Given the description of an element on the screen output the (x, y) to click on. 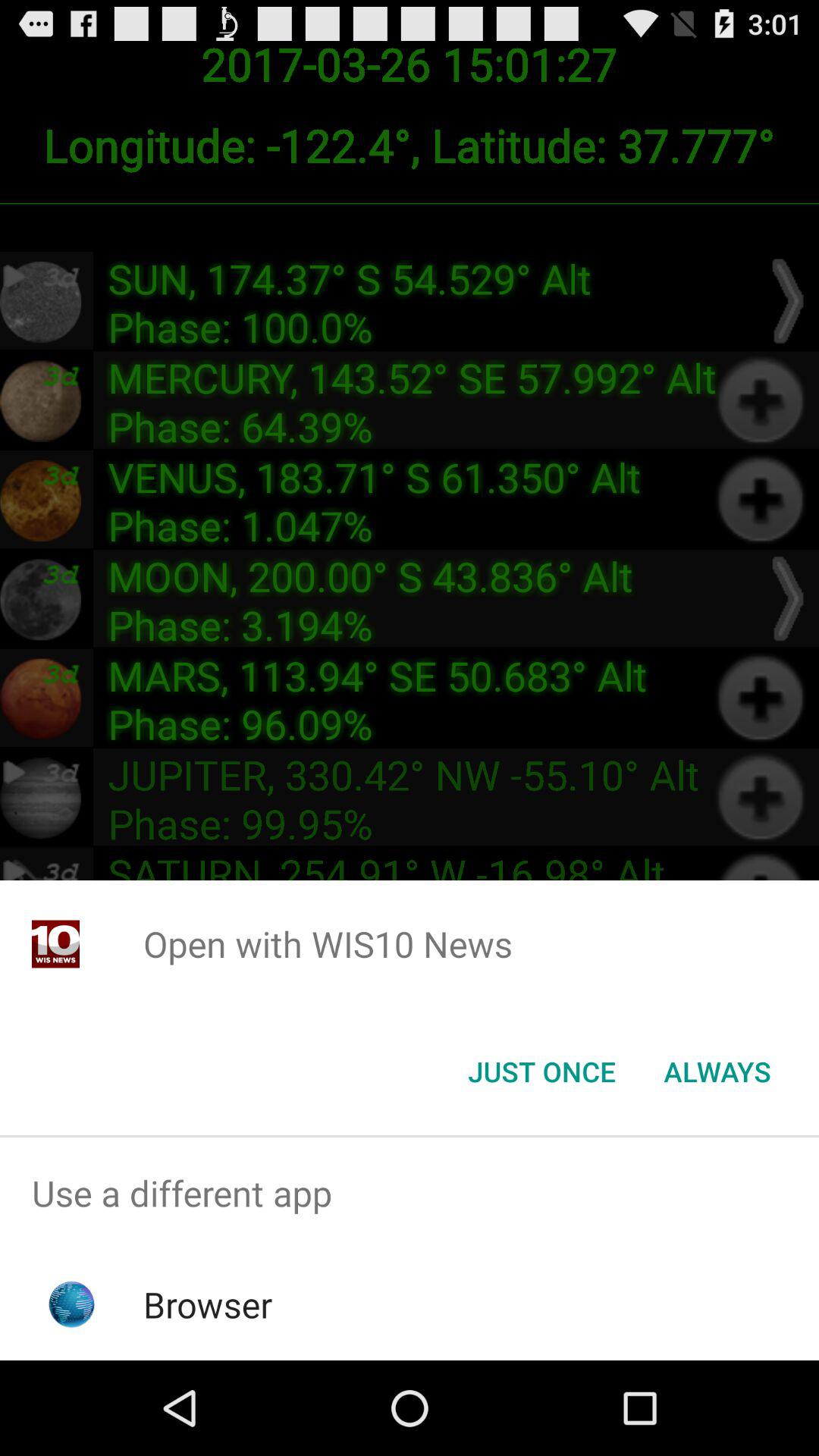
click browser app (207, 1304)
